Given the description of an element on the screen output the (x, y) to click on. 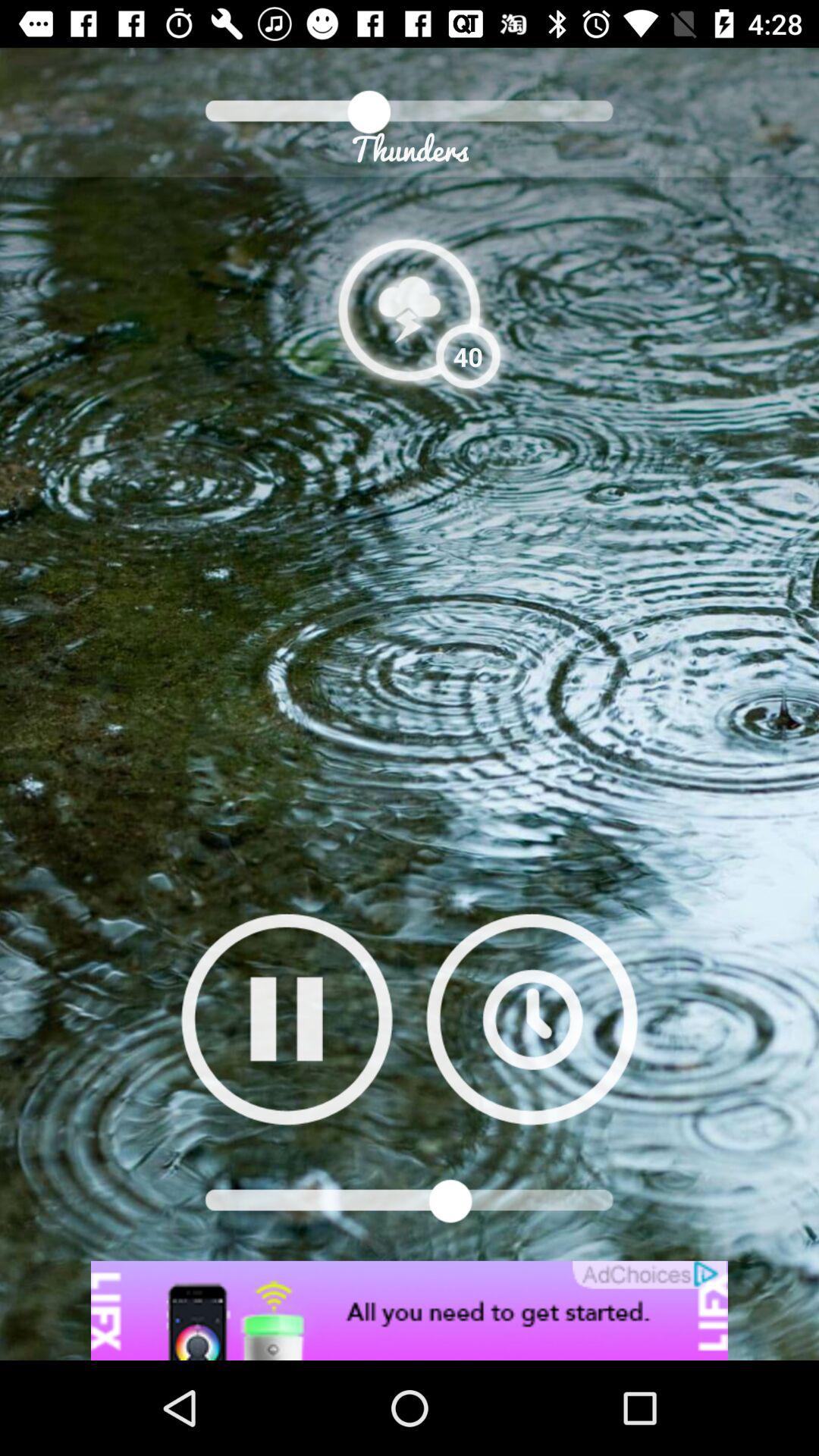
timer button (531, 1018)
